Given the description of an element on the screen output the (x, y) to click on. 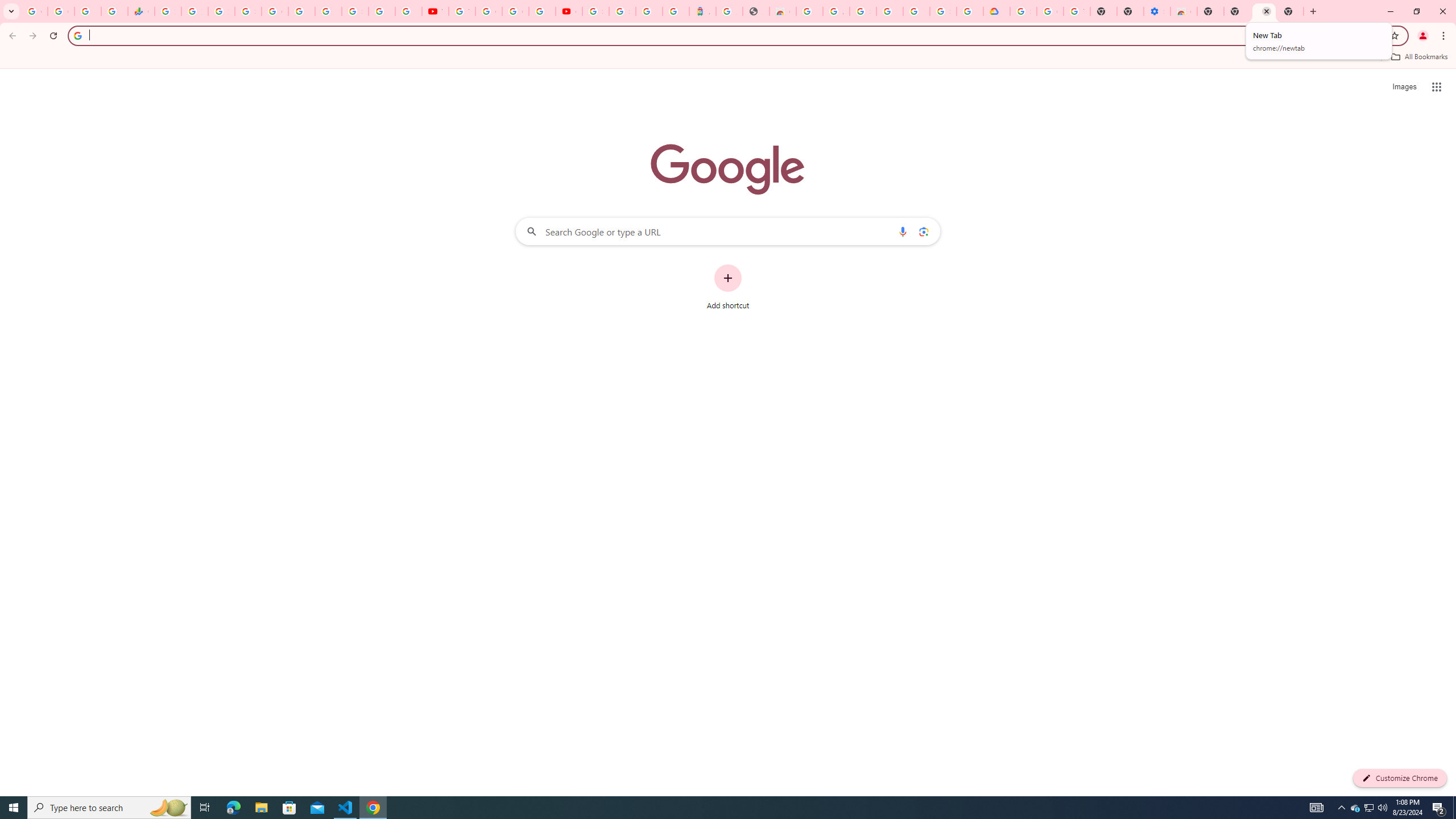
Google Account Help (1050, 11)
Content Creator Programs & Opportunities - YouTube Creators (569, 11)
Bookmarks (728, 58)
